Given the description of an element on the screen output the (x, y) to click on. 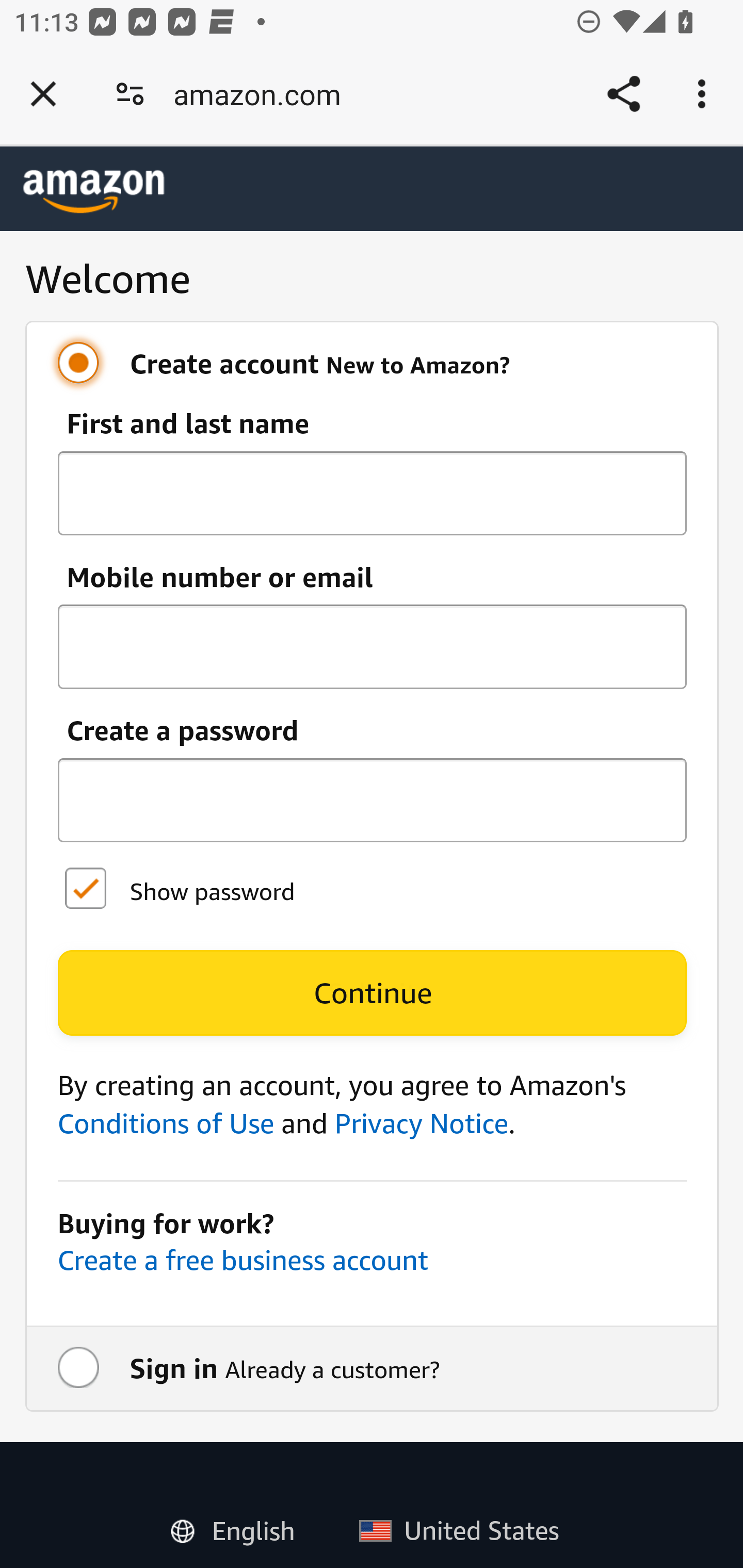
Close tab (43, 93)
Share (623, 93)
Customize and control Google Chrome (705, 93)
Connection is secure (129, 93)
amazon.com (264, 93)
Amazon (94, 191)
Show password (84, 889)
Continue Verify mobile number Verify email (371, 992)
Conditions of Use (164, 1123)
Privacy Notice (420, 1123)
Create a free business account (242, 1258)
Choose a language for shopping. English (239, 1526)
